Given the description of an element on the screen output the (x, y) to click on. 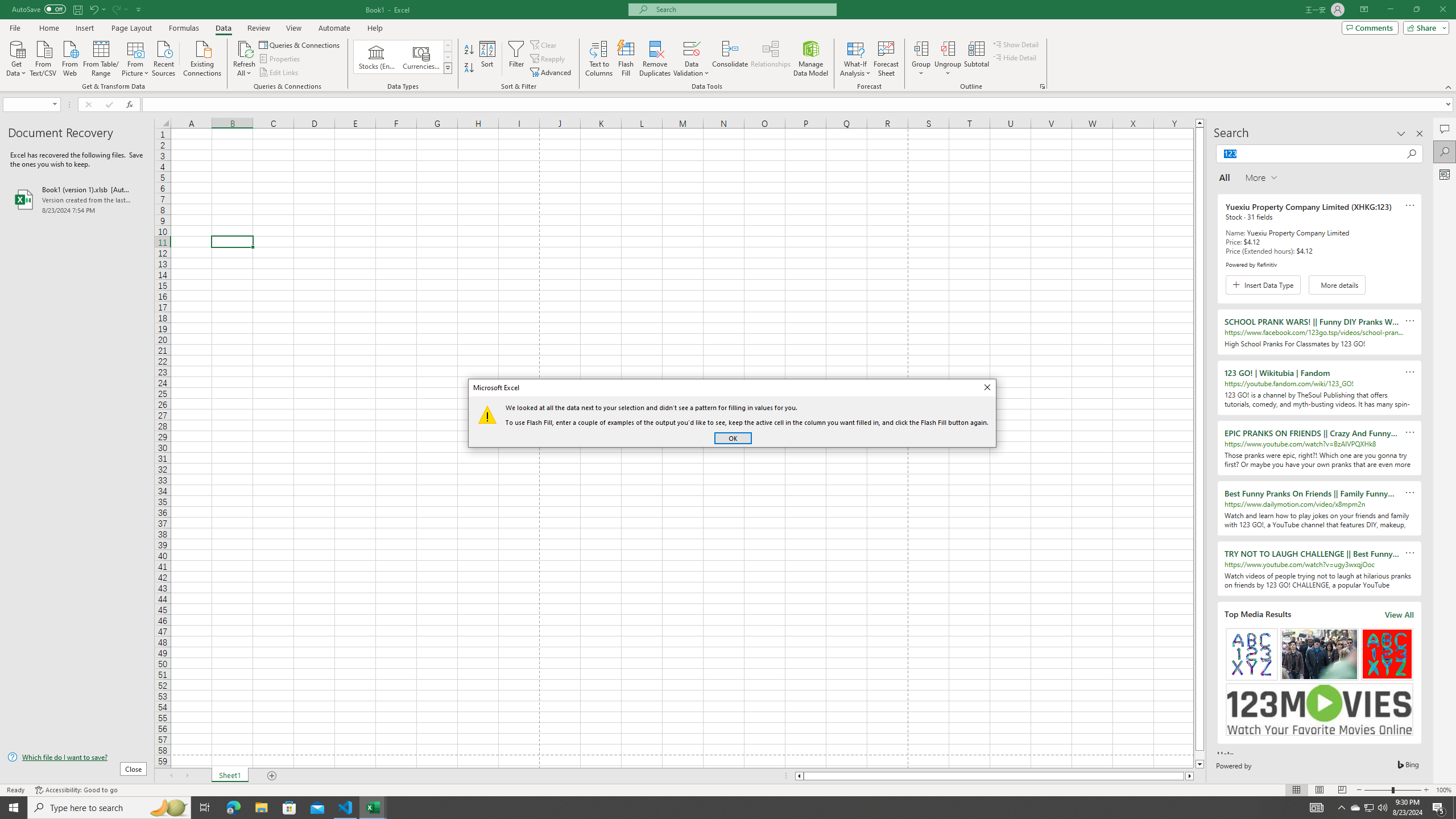
Sort Z to A (469, 67)
Remove Duplicates (654, 58)
Show desktop (1454, 807)
What-If Analysis (855, 58)
